Given the description of an element on the screen output the (x, y) to click on. 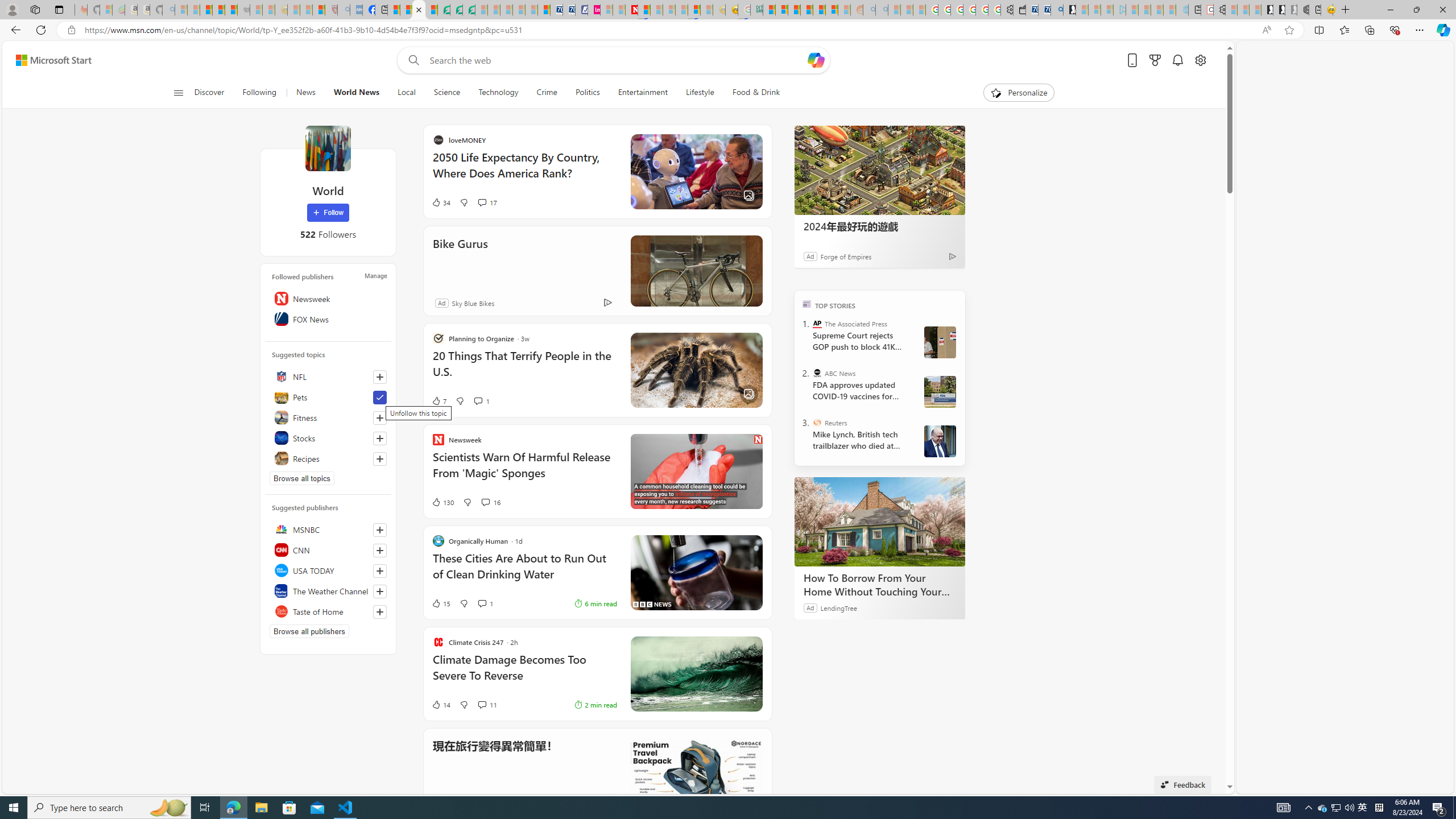
Follow this source (379, 611)
130 Like (442, 502)
Class: hero-image (696, 471)
Latest Politics News & Archive | Newsweek.com (631, 9)
CNN (327, 549)
